Given the description of an element on the screen output the (x, y) to click on. 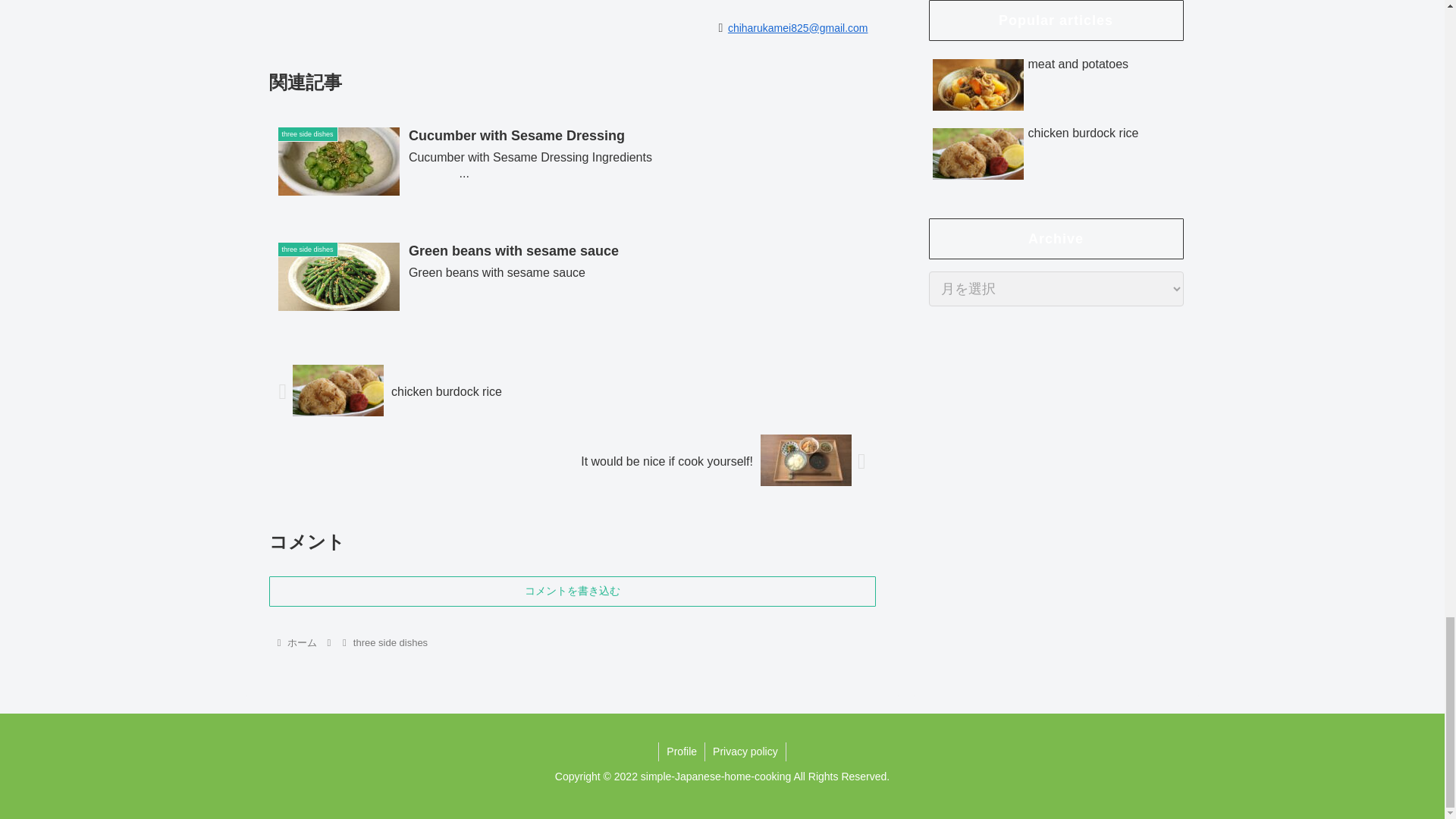
chicken burdock rice (571, 391)
Green beans with sesame sauce (571, 279)
chicken burdock rice (571, 391)
three side dishes (389, 642)
It would be nice if cook yourself! (571, 461)
Cucumber with Sesame Dressing (571, 164)
It would be nice if cook yourself! (571, 461)
